Given the description of an element on the screen output the (x, y) to click on. 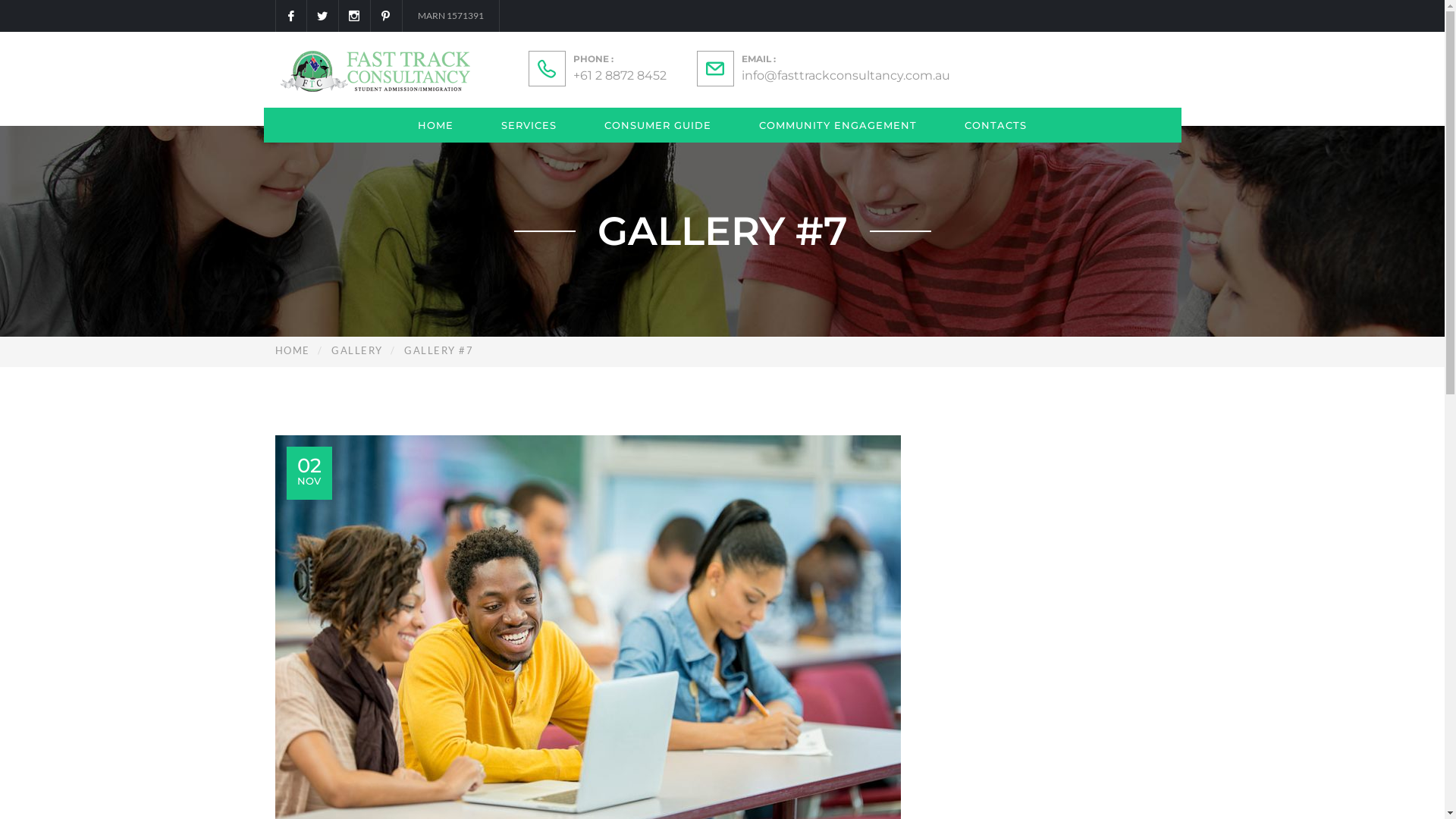
GALLERY Element type: text (356, 350)
SERVICES Element type: text (528, 124)
CONSUMER GUIDE Element type: text (657, 124)
HOME Element type: text (435, 124)
+61 2 8872 8452 Element type: text (619, 75)
HOME Element type: text (291, 350)
info@fasttrackconsultancy.com.au Element type: text (845, 75)
COMMUNITY ENGAGEMENT Element type: text (837, 124)
CONTACTS Element type: text (995, 124)
